Given the description of an element on the screen output the (x, y) to click on. 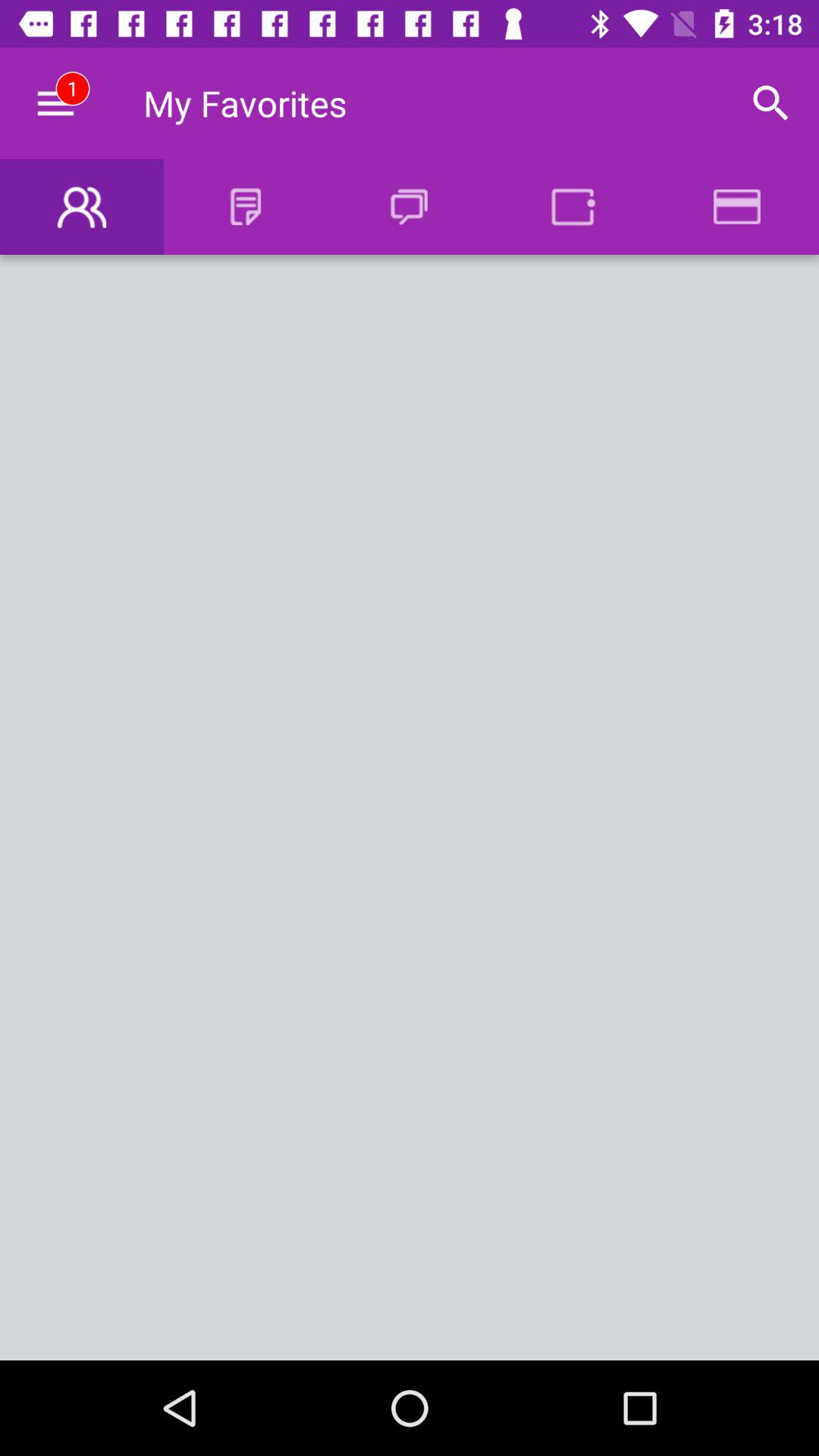
turn off icon to the left of the my favorites (55, 103)
